Given the description of an element on the screen output the (x, y) to click on. 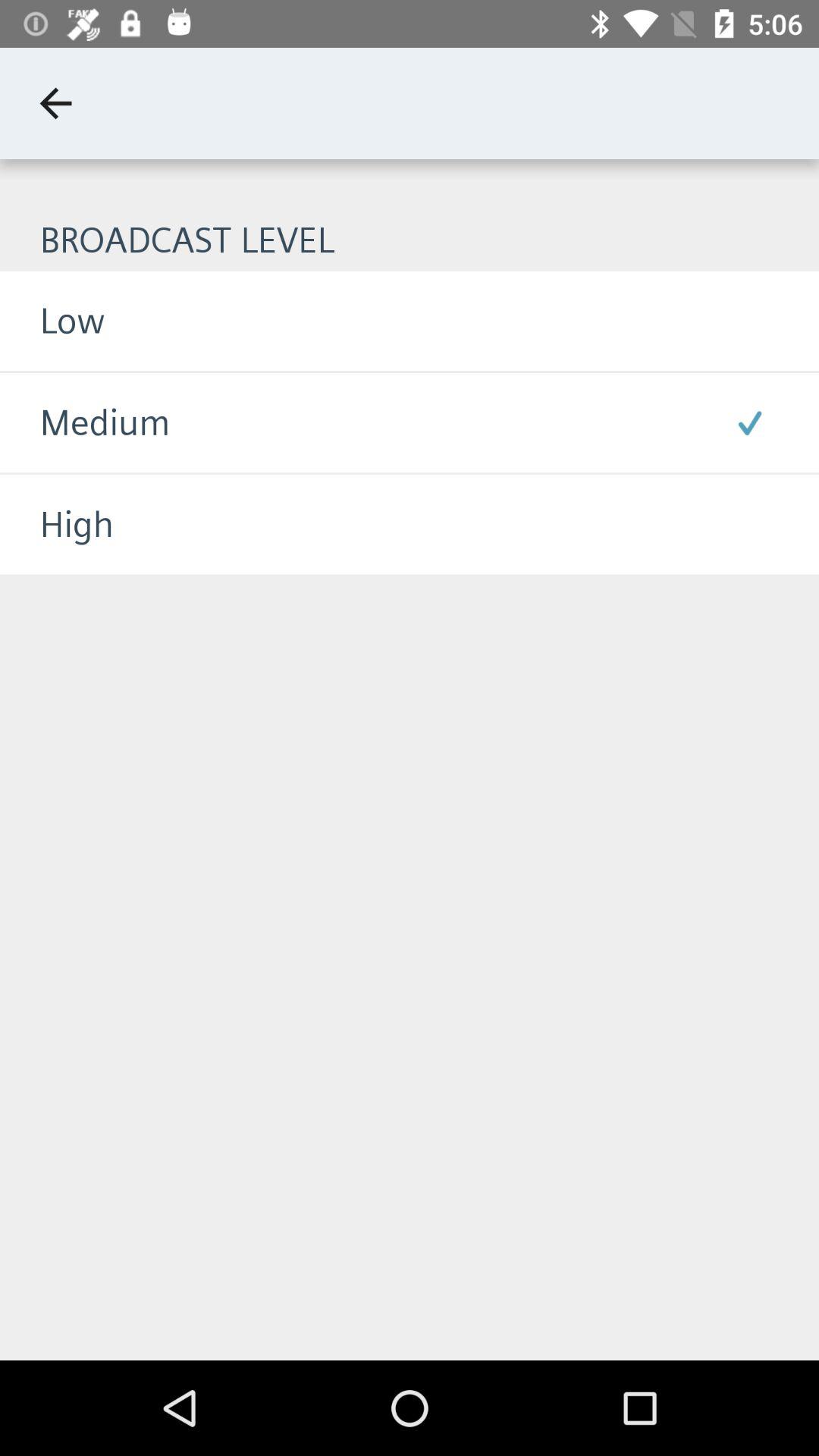
turn on the item at the top right corner (749, 422)
